Given the description of an element on the screen output the (x, y) to click on. 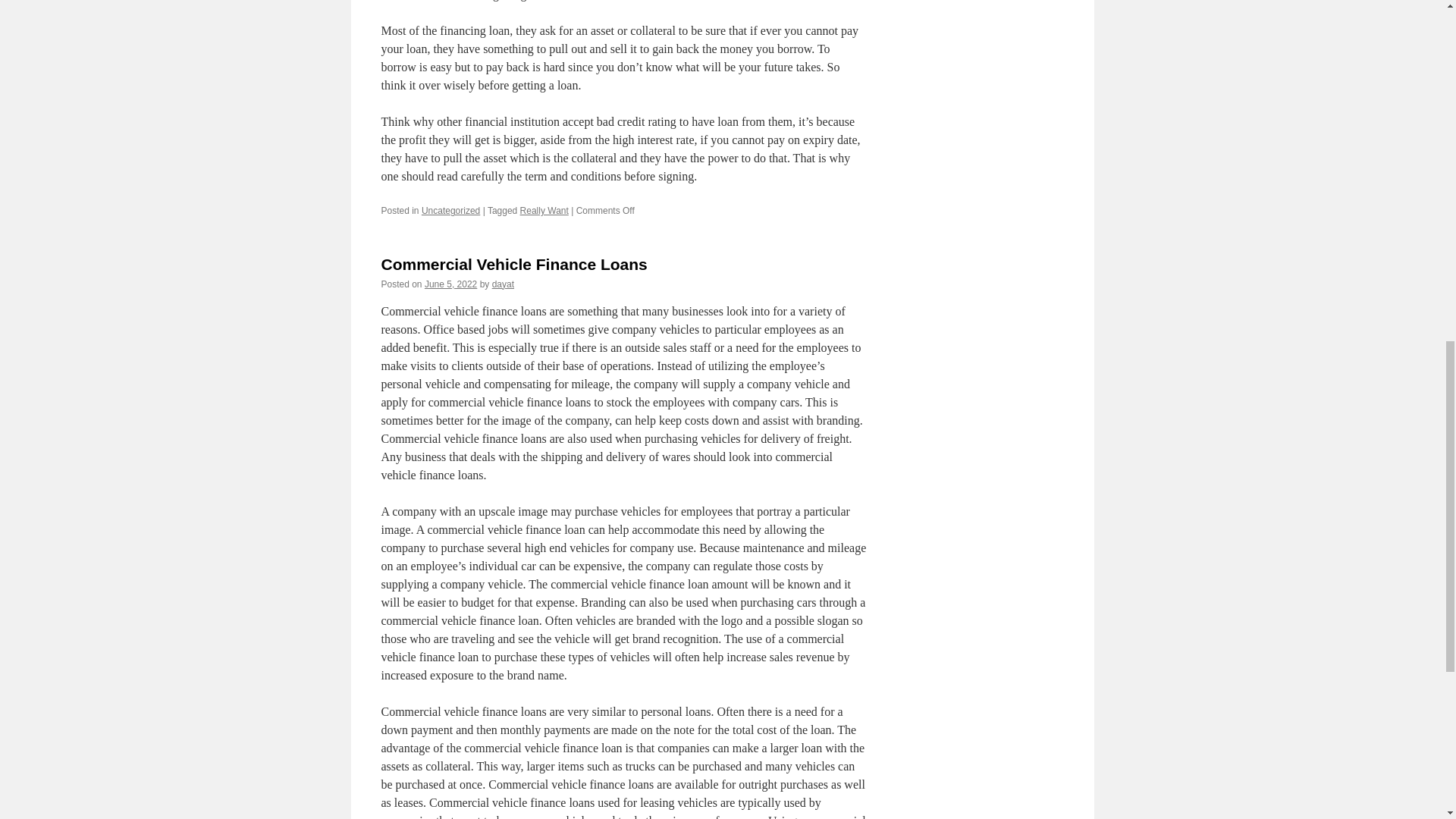
Really Want (544, 210)
View all posts in Uncategorized (451, 210)
June 5, 2022 (451, 284)
View all posts by dayat (502, 284)
Uncategorized (451, 210)
Commercial Vehicle Finance Loans (513, 263)
dayat (502, 284)
2:43 pm (451, 284)
